Given the description of an element on the screen output the (x, y) to click on. 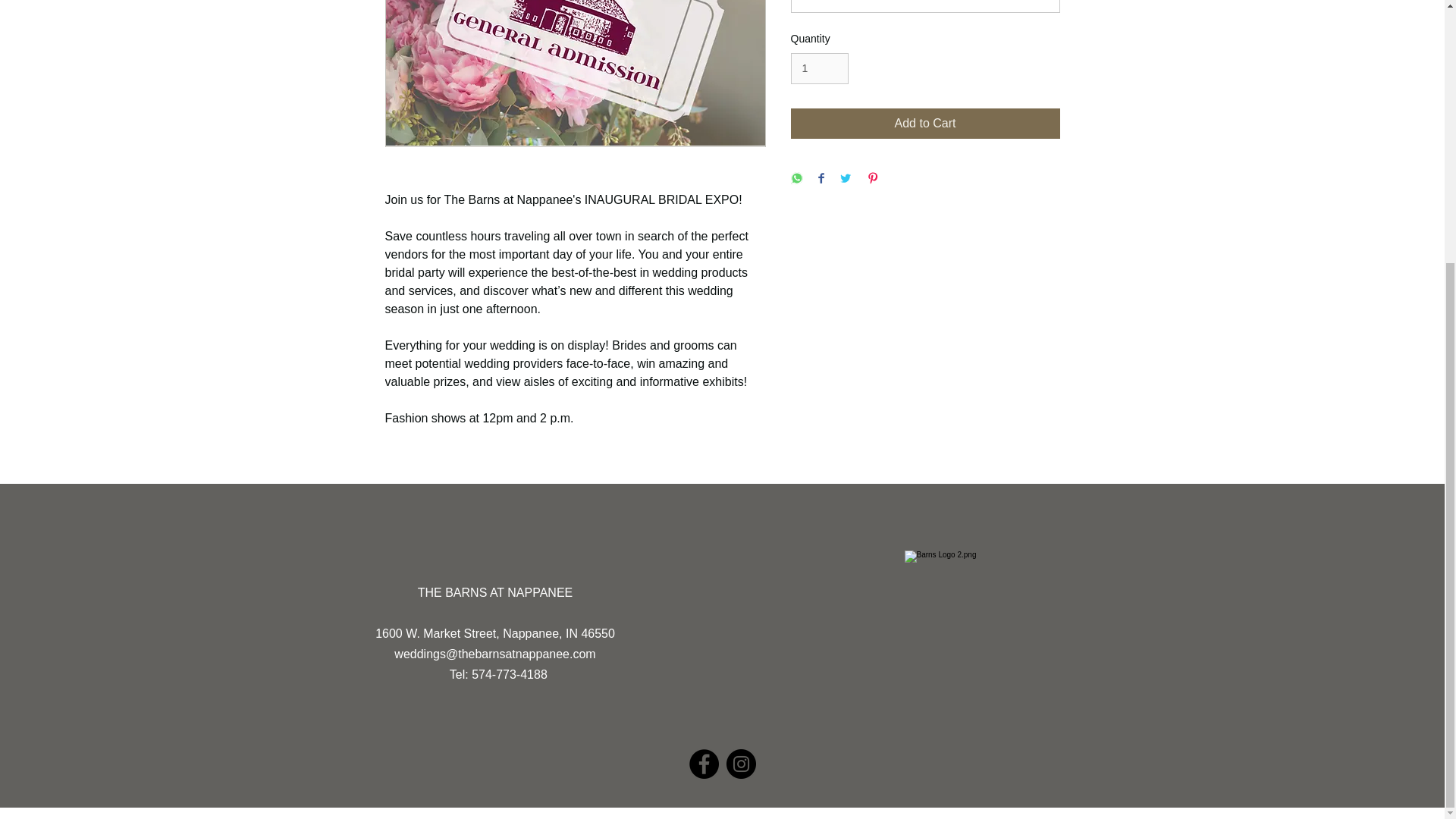
Add to Cart (924, 123)
1 (818, 68)
